Given the description of an element on the screen output the (x, y) to click on. 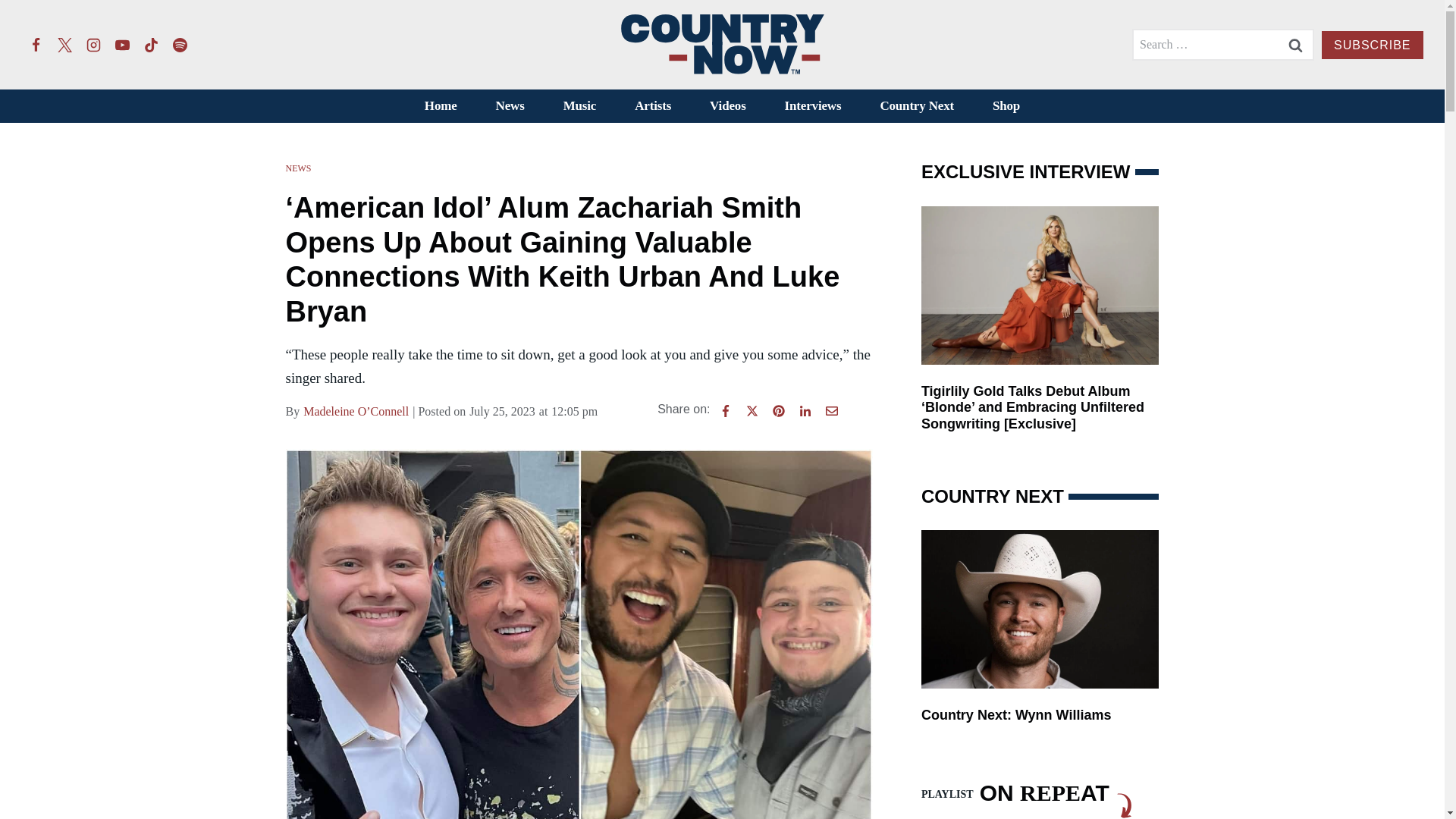
NEWS (298, 167)
SUBSCRIBE (1372, 44)
Interviews (812, 105)
Artists (652, 105)
Search (1295, 44)
News (509, 105)
Videos (727, 105)
Home (440, 105)
Search (1295, 44)
Search (1295, 44)
Music (579, 105)
Country Next (917, 105)
Shop (1005, 105)
